Given the description of an element on the screen output the (x, y) to click on. 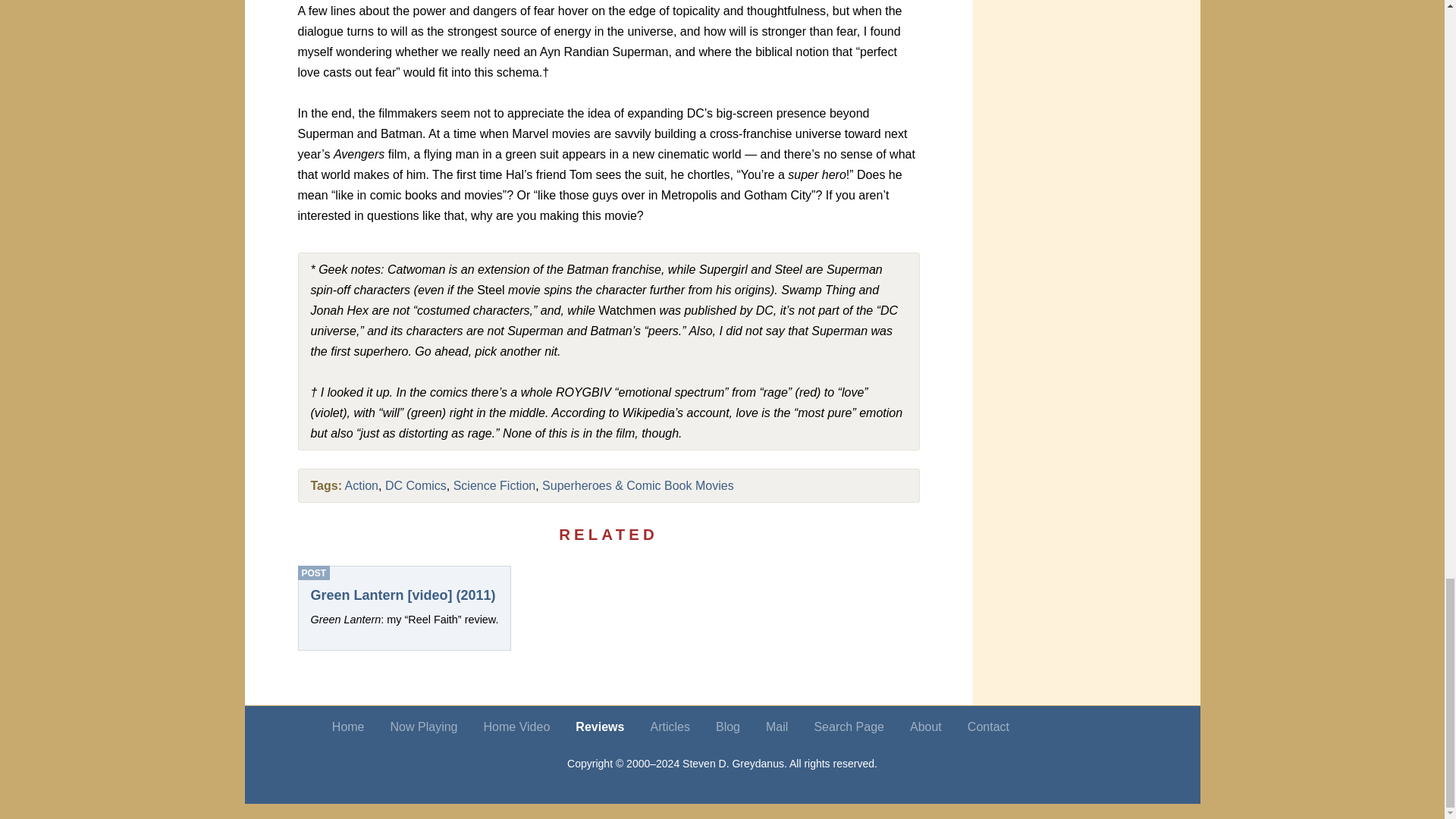
DC Comics (415, 485)
Subscribe to Decent Films via RSS (1080, 726)
I love Decent Films! How can I help? (1106, 726)
Science Fiction (493, 485)
Action (361, 485)
Home Video (516, 726)
Now Playing (424, 726)
Home (347, 726)
Follow Decent Films on Facebook (1054, 726)
